Given the description of an element on the screen output the (x, y) to click on. 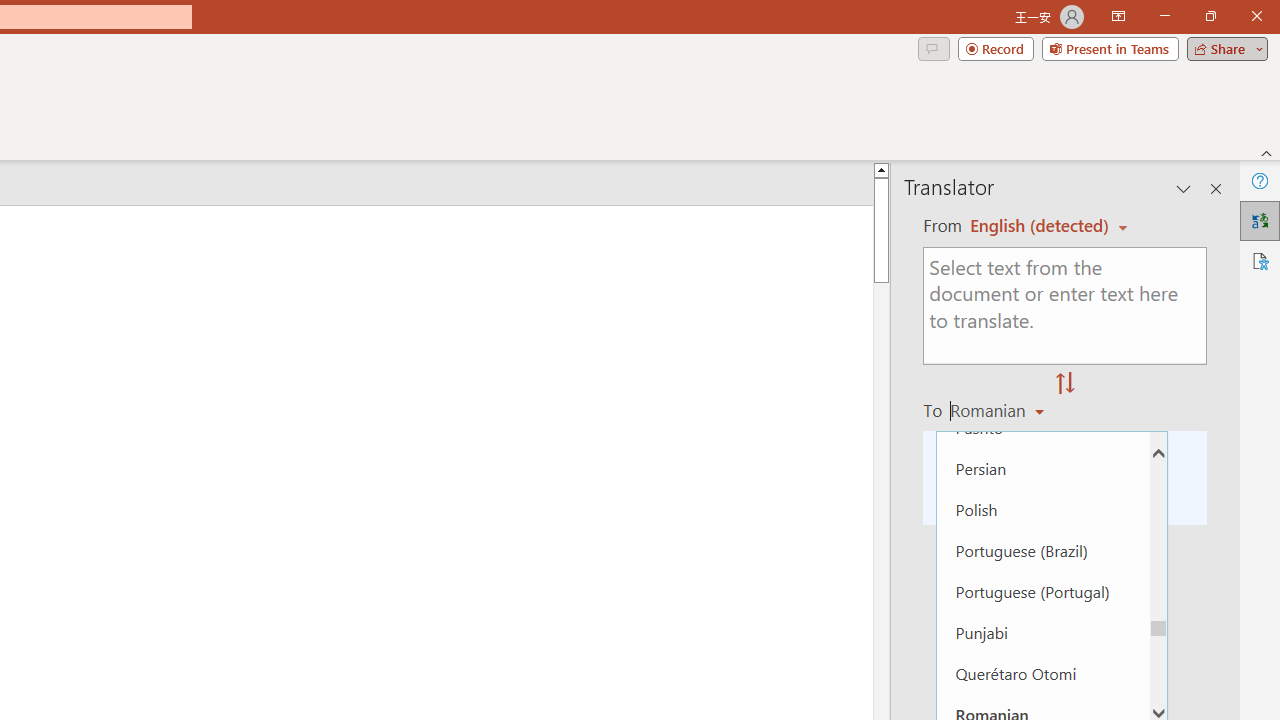
Persian (1042, 467)
Pashto (1042, 426)
Romanian (1000, 409)
Norwegian (1042, 303)
Czech (detected) (1039, 225)
